Given the description of an element on the screen output the (x, y) to click on. 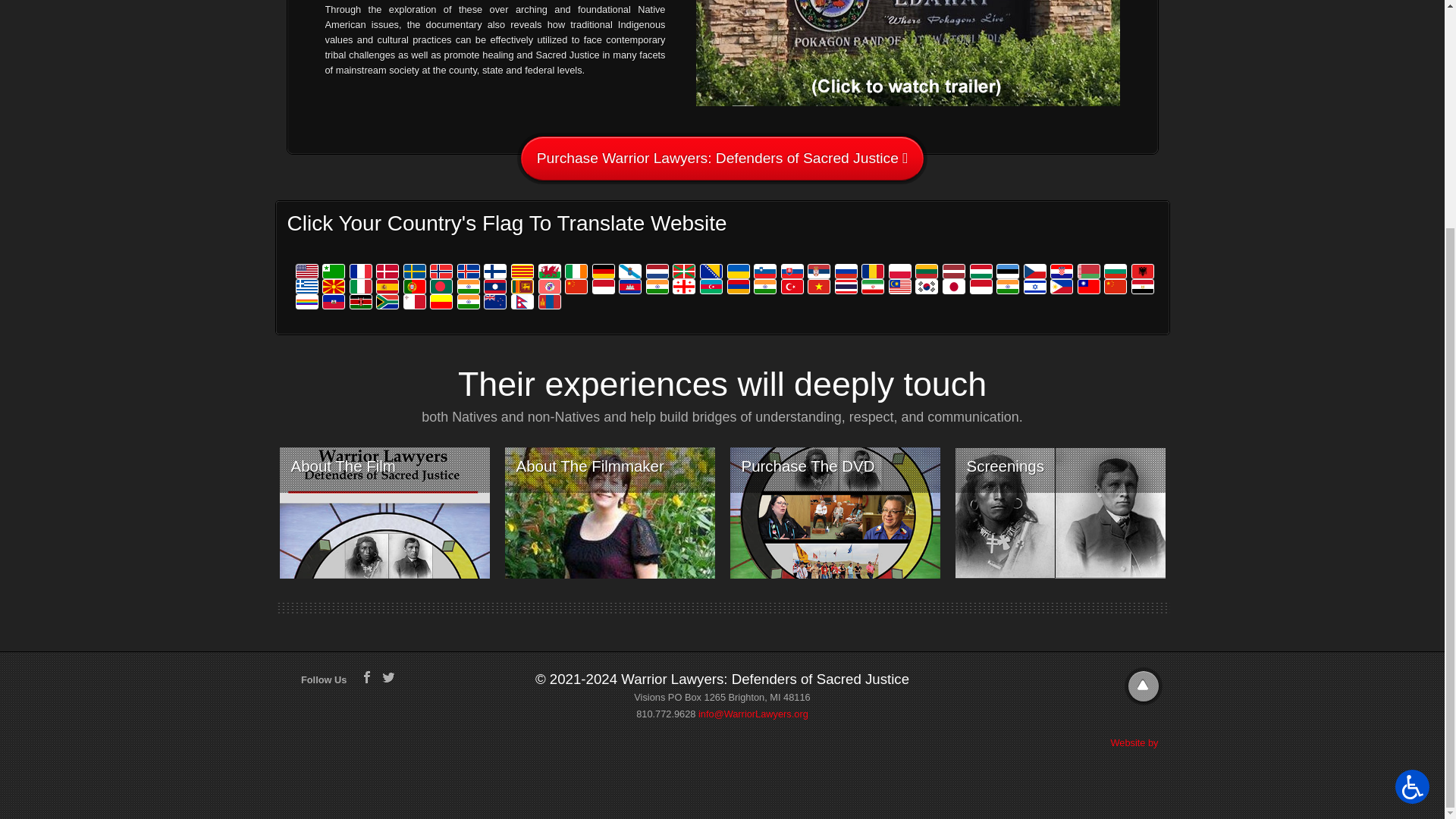
 Norsk (442, 270)
 Cymraeg (551, 270)
 Galego (631, 270)
Purchase Warrior Lawyers: Defenders of Sacred Justice (722, 158)
 Nederlands (658, 270)
 Euskara (685, 270)
 English (308, 270)
 Svenska (416, 270)
 Dansk (388, 270)
 Deutsch (604, 270)
 Esperanto (334, 270)
 Slovenski (766, 270)
 Gaeilge (577, 270)
